Given the description of an element on the screen output the (x, y) to click on. 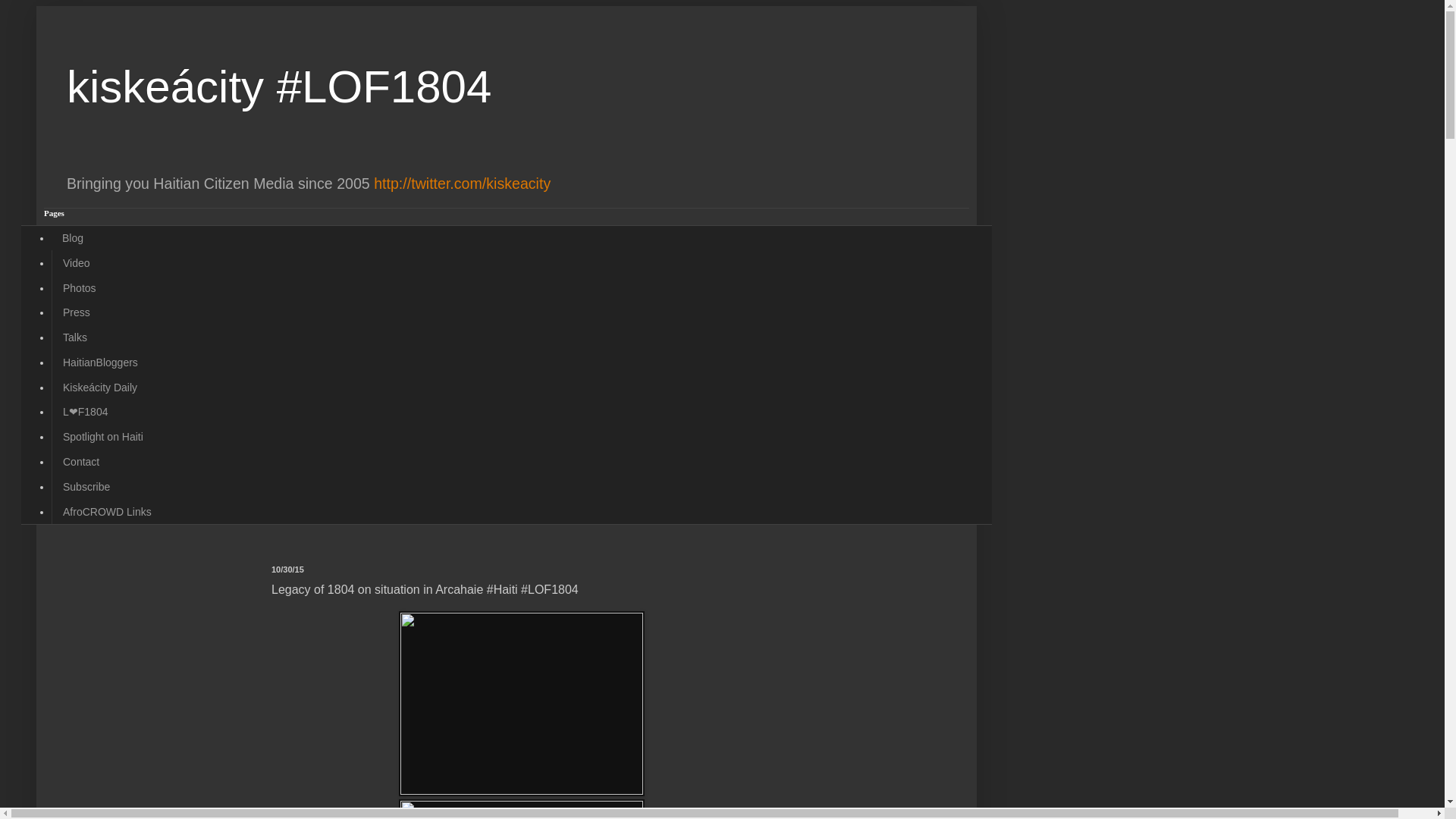
Press (75, 312)
Talks (73, 337)
Spotlight on Haiti (102, 437)
Video (75, 262)
Blog (72, 238)
Photos (78, 287)
HaitianBloggers (99, 361)
Contact (80, 462)
AfroCROWD Links (105, 511)
Subscribe (85, 486)
